Given the description of an element on the screen output the (x, y) to click on. 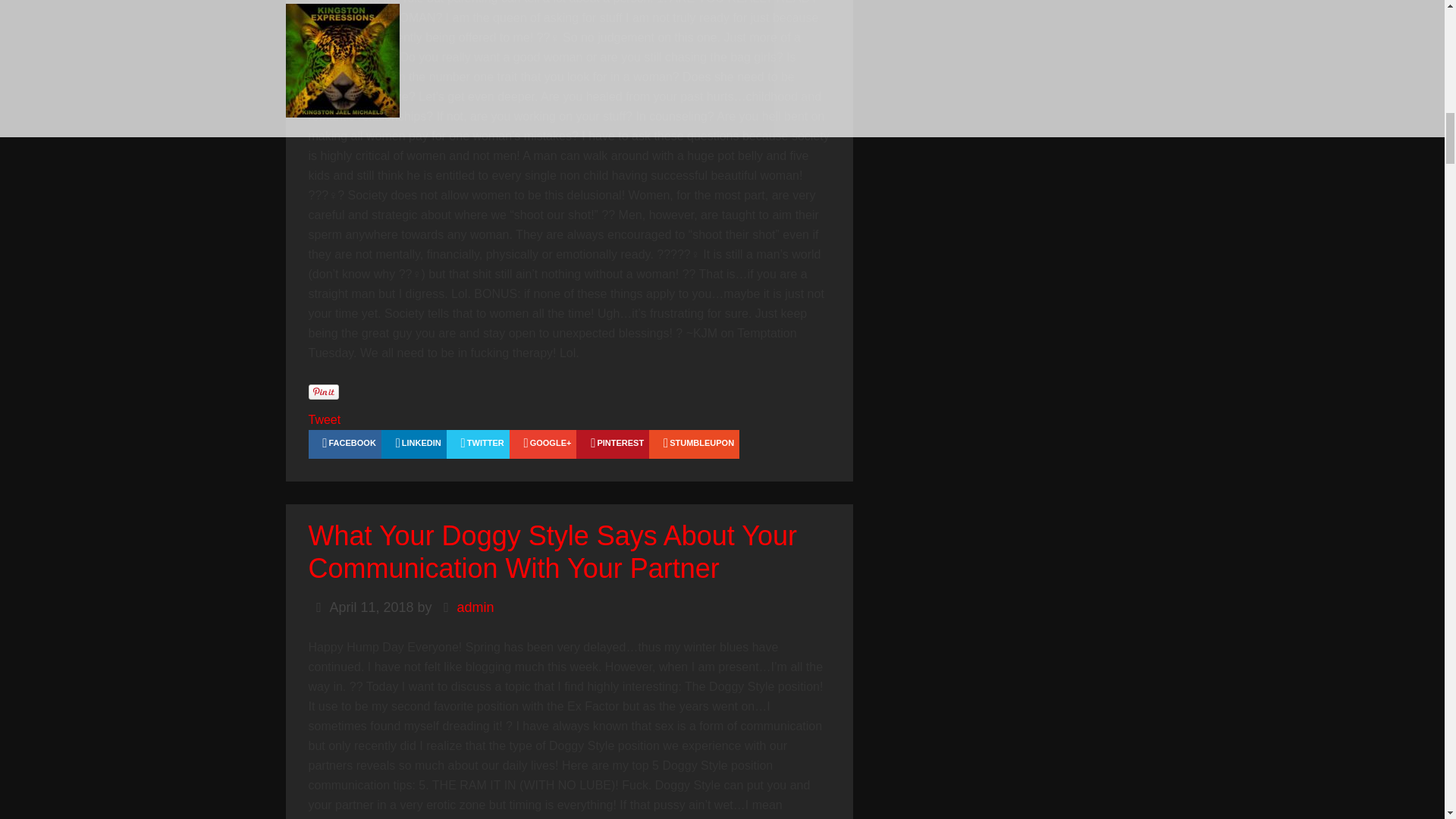
PINTEREST (612, 443)
admin (476, 607)
LINKEDIN (413, 443)
Pin It (322, 391)
STUMBLEUPON (694, 443)
TWITTER (477, 443)
FACEBOOK (343, 443)
Tweet (323, 419)
